Given the description of an element on the screen output the (x, y) to click on. 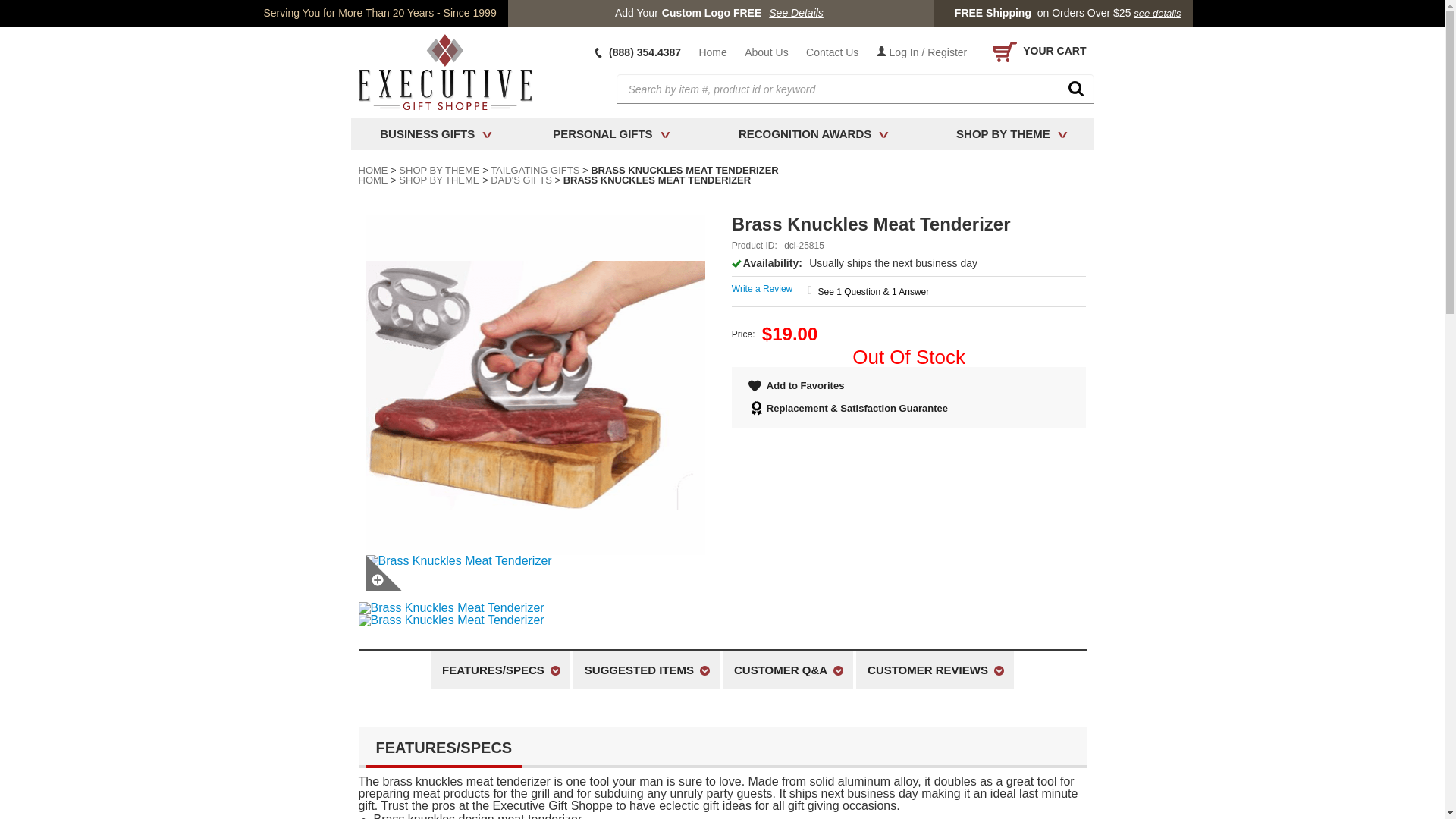
About Us (766, 51)
see details (1157, 13)
Contact Us (831, 51)
YOUR CART (1035, 51)
See Details (796, 13)
Home (711, 51)
